Given the description of an element on the screen output the (x, y) to click on. 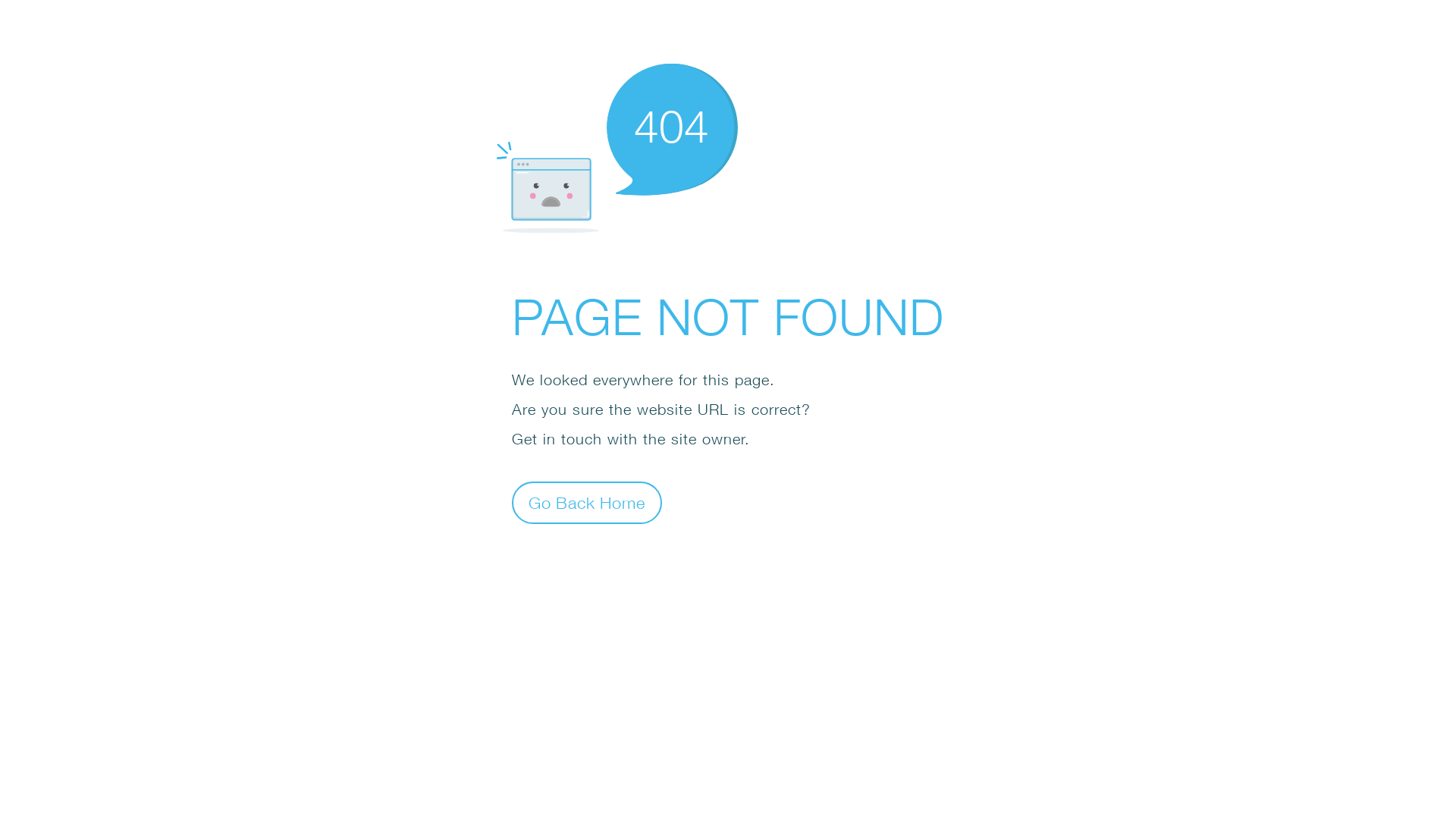
Go Back Home Element type: text (586, 502)
